Given the description of an element on the screen output the (x, y) to click on. 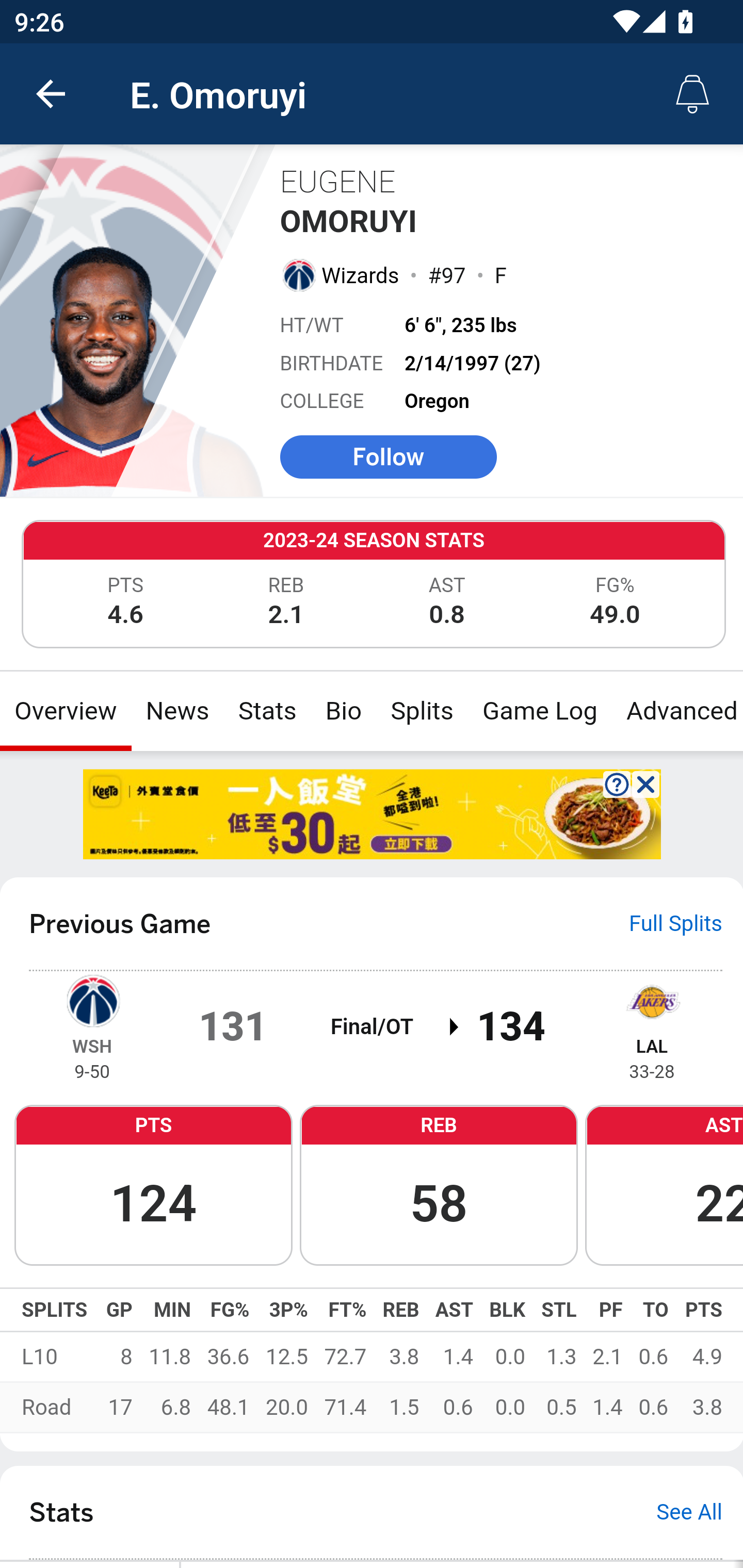
back.button (50, 93)
Alerts (692, 93)
Washington Wizards (297, 274)
Wizards (361, 274)
Oregon (436, 401)
Follow (387, 455)
Overview (65, 711)
News (177, 711)
Stats (267, 711)
Bio (343, 711)
Splits (422, 711)
Game Log (538, 711)
Advanced Stats (676, 711)
Full Splits (675, 925)
Washington Wizards (91, 1000)
Los Angeles Lakers (651, 1000)
PTS 124 (153, 1185)
REB 58 (438, 1185)
AST 22 (664, 1185)
See All (689, 1513)
